Given the description of an element on the screen output the (x, y) to click on. 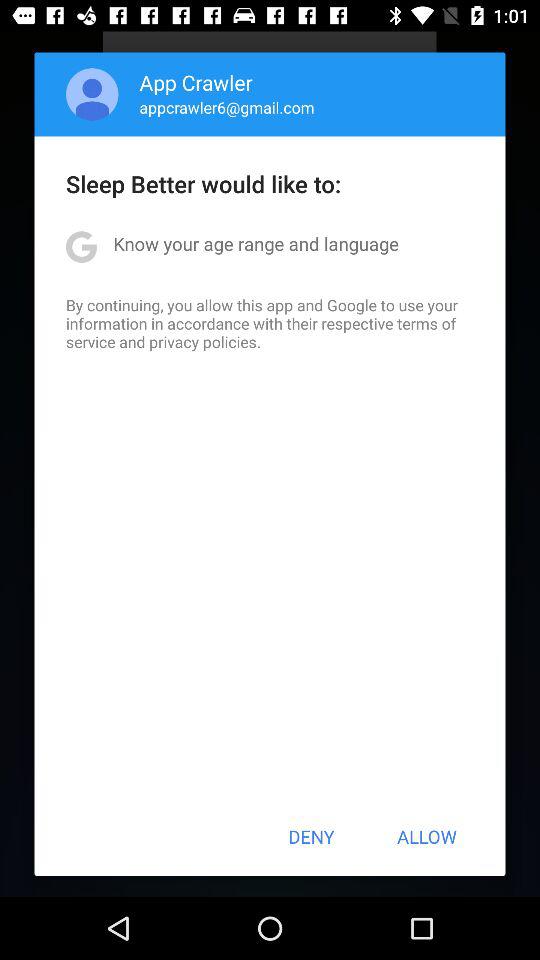
swipe to the deny item (311, 836)
